Given the description of an element on the screen output the (x, y) to click on. 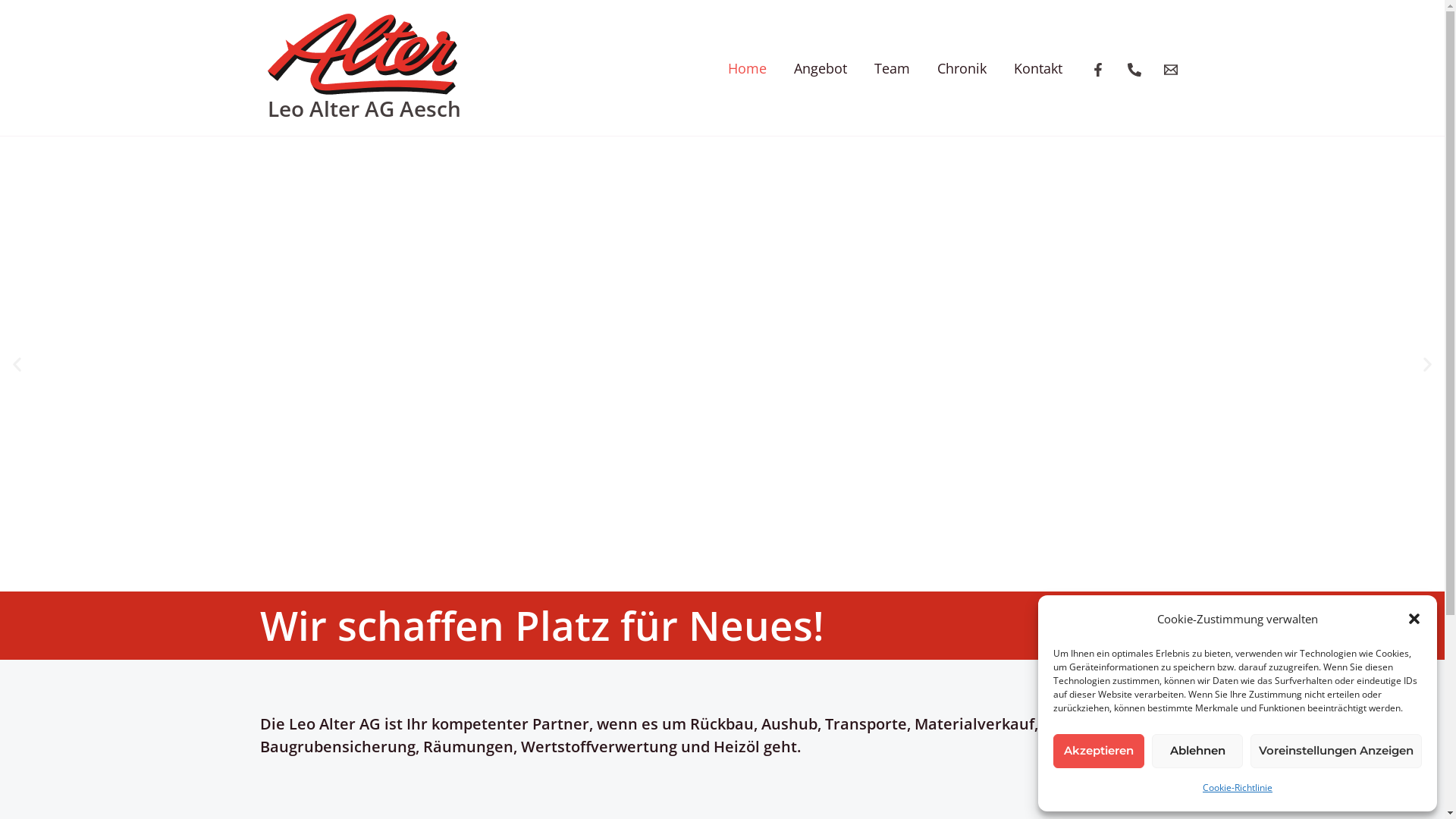
Team Element type: text (890, 67)
Chronik Element type: text (961, 67)
Akzeptieren Element type: text (1098, 751)
Ablehnen Element type: text (1196, 751)
Home Element type: text (747, 67)
Voreinstellungen Anzeigen Element type: text (1335, 751)
Leo Alter AG Aesch Element type: text (363, 108)
Kontakt Element type: text (1037, 67)
Angebot Element type: text (819, 67)
Cookie-Richtlinie Element type: text (1237, 787)
